Given the description of an element on the screen output the (x, y) to click on. 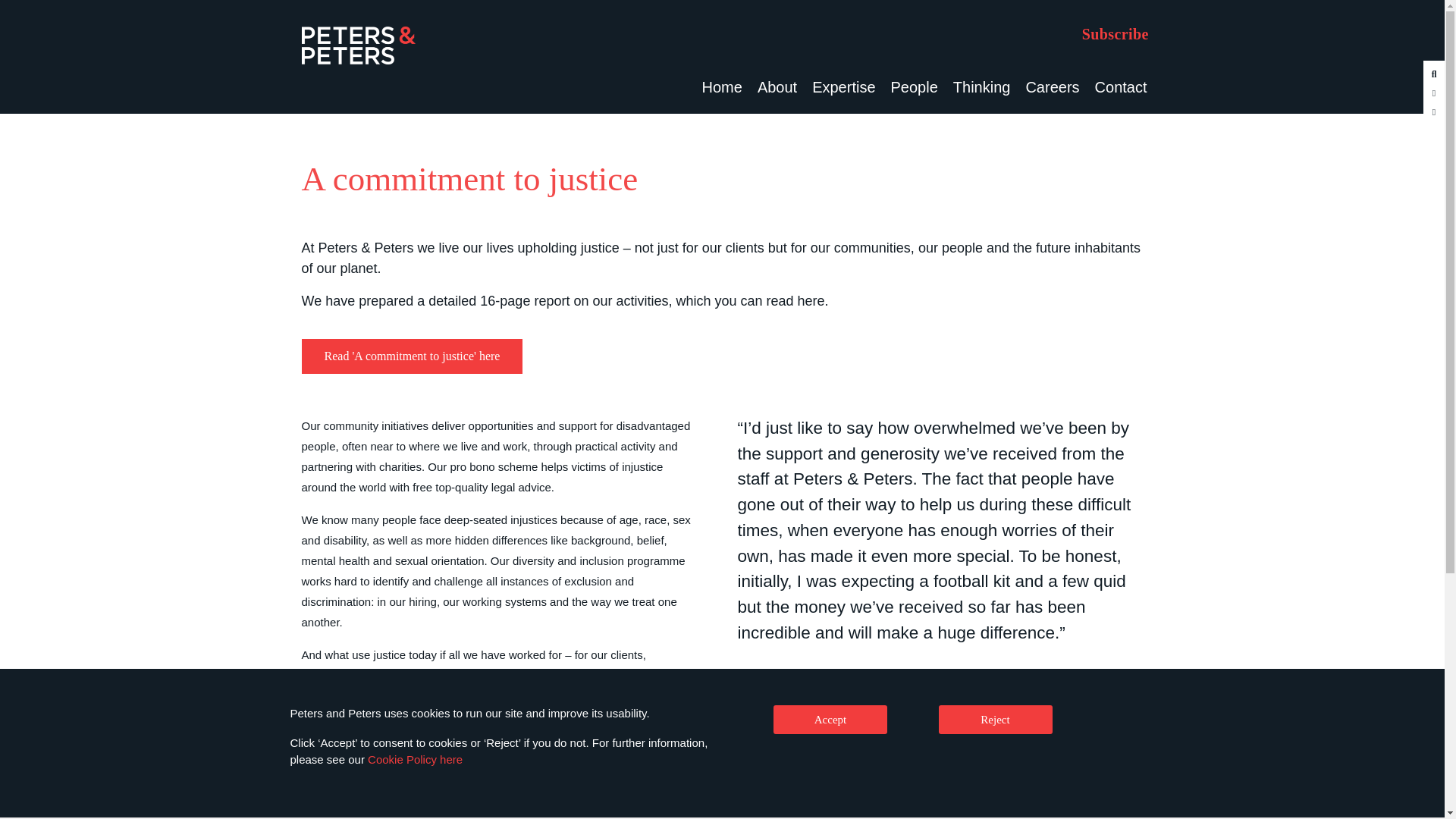
Read 'A commitment to justice' here (411, 356)
Thinking (980, 87)
Contact (1120, 87)
Subscribe (1114, 33)
Expertise (843, 87)
Careers (1051, 87)
About (777, 87)
Home (721, 87)
People (913, 87)
